Given the description of an element on the screen output the (x, y) to click on. 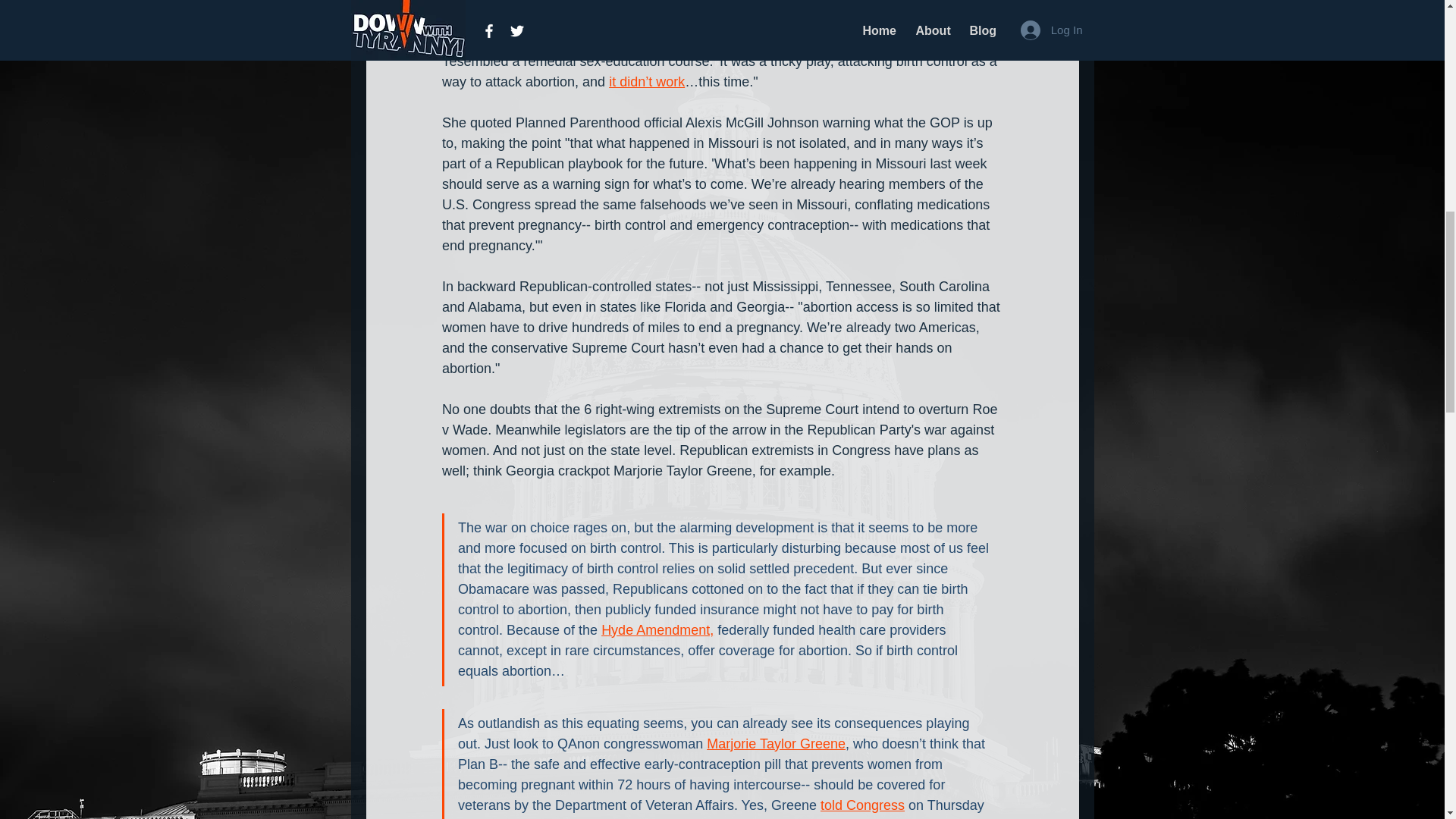
Hyde Amendment, (657, 629)
Marjorie Taylor Greene (775, 743)
the  (973, 19)
 reported (570, 40)
told Congress (861, 805)
Kansas City Star (492, 40)
